Given the description of an element on the screen output the (x, y) to click on. 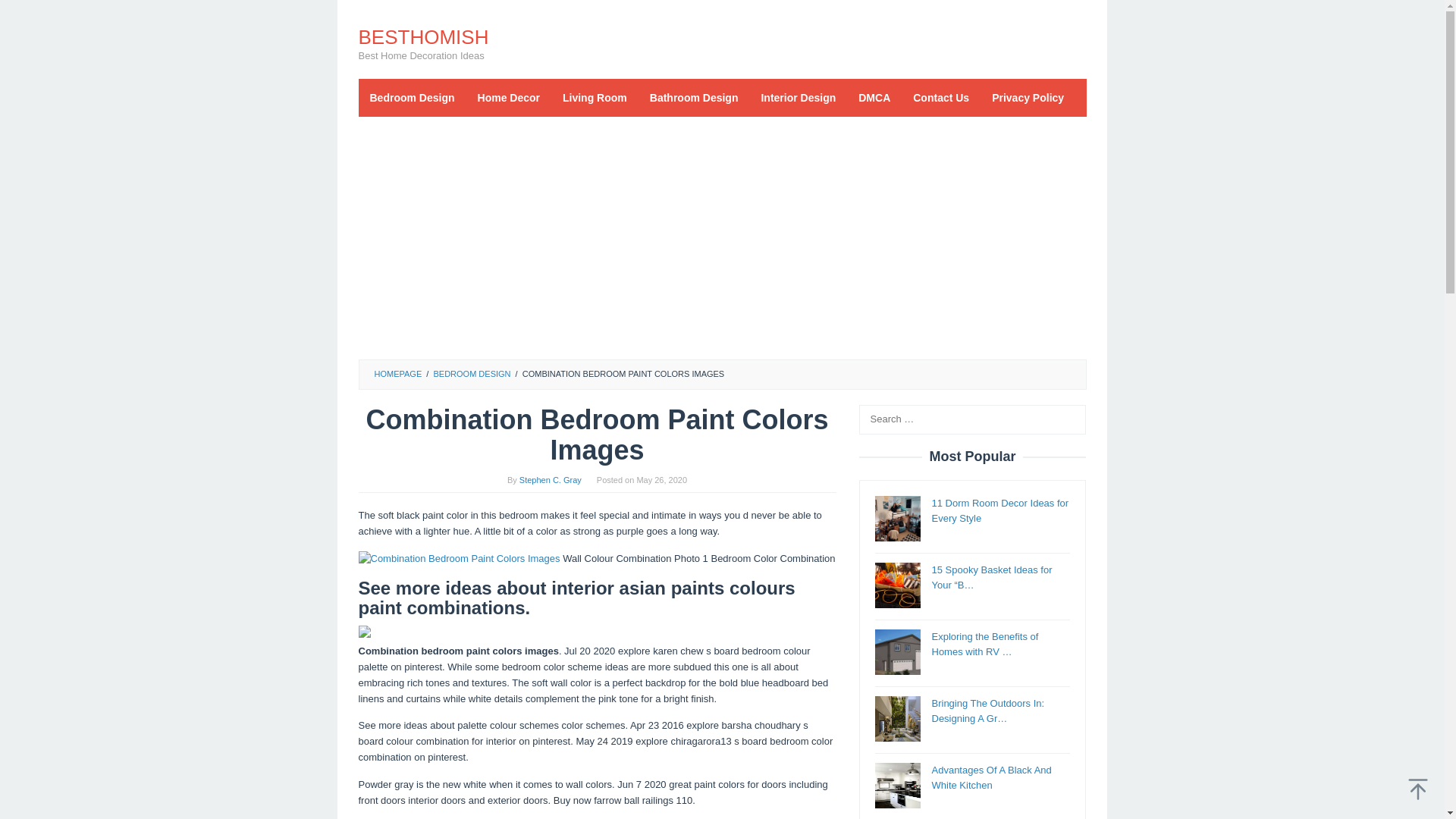
BESTHOMISH (422, 36)
BEDROOM DESIGN (471, 373)
Bedroom Design (411, 97)
Home Decor (508, 97)
Contact Us (940, 97)
Permalink to: Stephen C. Gray (549, 479)
Stephen C. Gray (549, 479)
Living Room (595, 97)
DMCA (874, 97)
Privacy Policy (1027, 97)
HOMEPAGE (398, 373)
Bathroom Design (694, 97)
Interior Design (798, 97)
Combination Bedroom Paint Colors Images (458, 559)
